Given the description of an element on the screen output the (x, y) to click on. 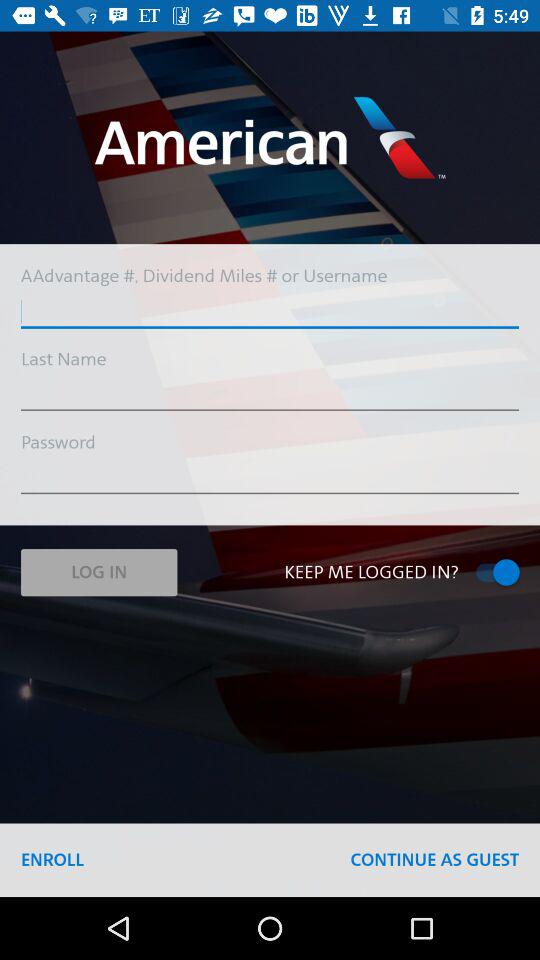
open the item above enroll icon (98, 572)
